Given the description of an element on the screen output the (x, y) to click on. 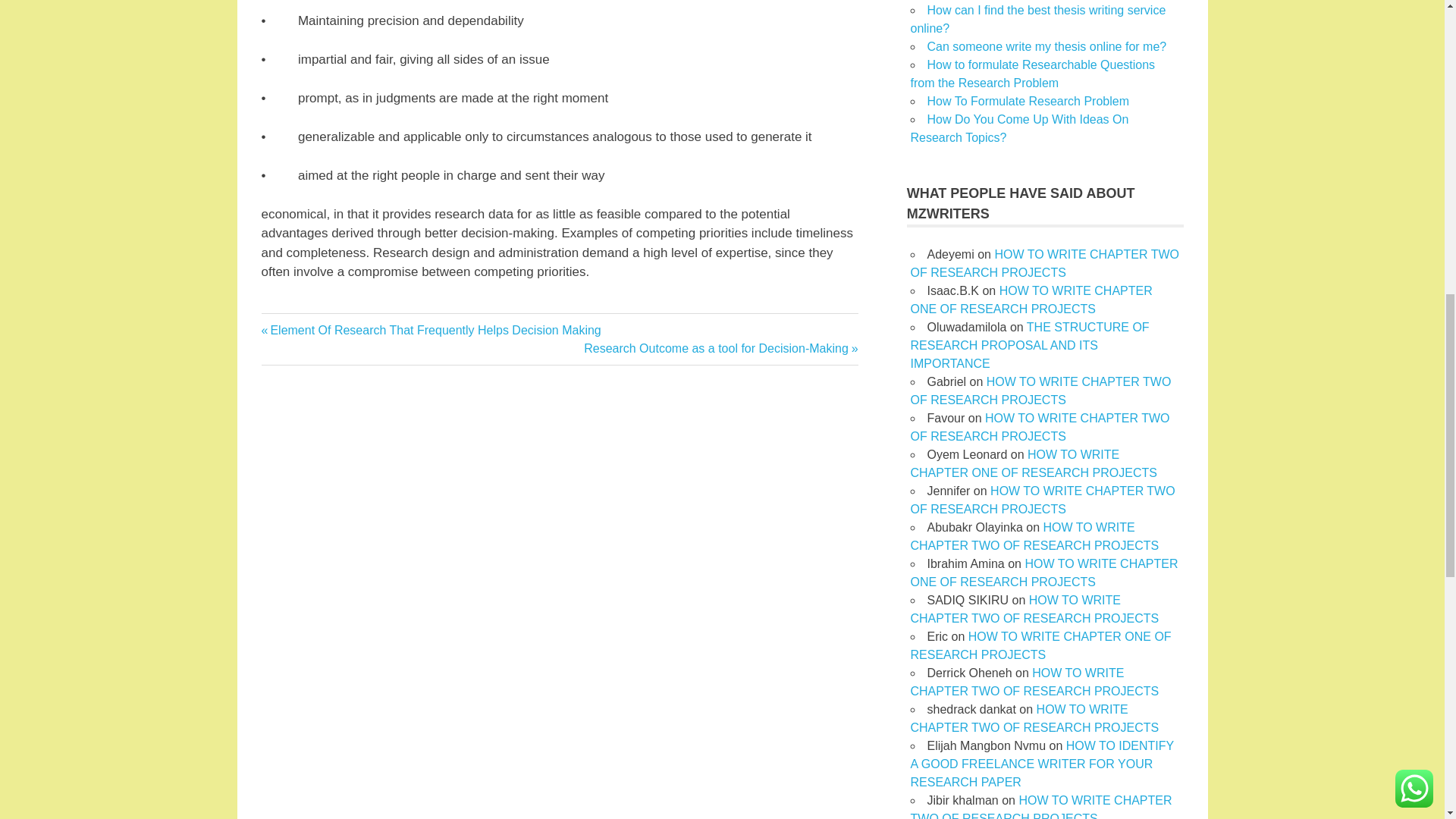
How Do You Come Up With Ideas On Research Topics? (1019, 128)
How To Formulate Research Problem (1027, 101)
HOW TO WRITE CHAPTER ONE OF RESEARCH PROJECTS (1043, 572)
HOW TO WRITE CHAPTER TWO OF RESEARCH PROJECTS (1034, 717)
THE STRUCTURE OF RESEARCH PROPOSAL AND ITS IMPORTANCE (1029, 345)
HOW TO WRITE CHAPTER ONE OF RESEARCH PROJECTS (721, 348)
HOW TO WRITE CHAPTER TWO OF RESEARCH PROJECTS (1040, 644)
HOW TO WRITE CHAPTER TWO OF RESEARCH PROJECTS (1034, 681)
How can I find the best thesis writing service online? (1039, 427)
